Given the description of an element on the screen output the (x, y) to click on. 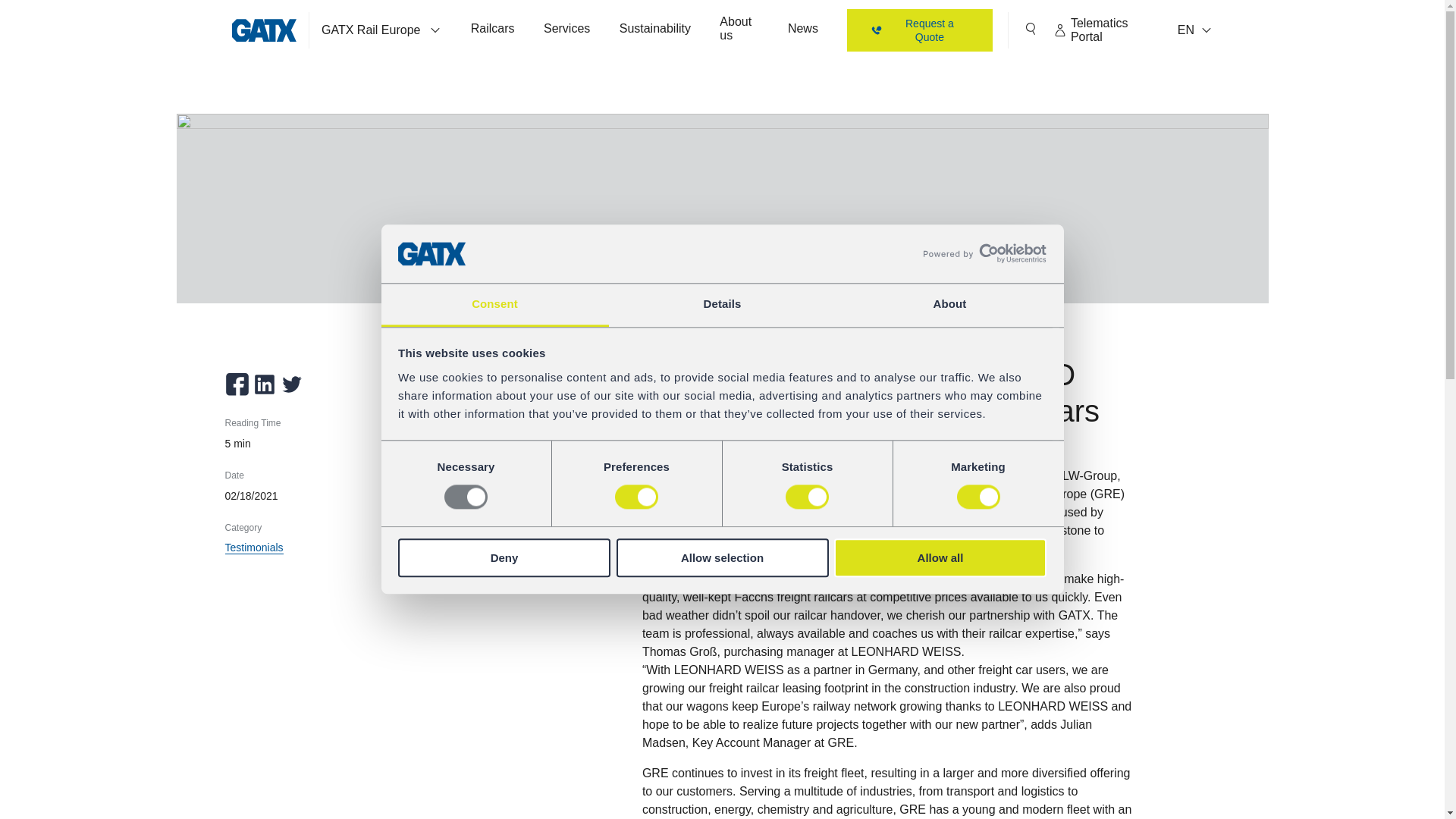
About (948, 304)
Consent (494, 304)
Railcars (493, 30)
Allow selection (721, 557)
Details (721, 304)
Deny (503, 557)
Allow all (940, 557)
